Given the description of an element on the screen output the (x, y) to click on. 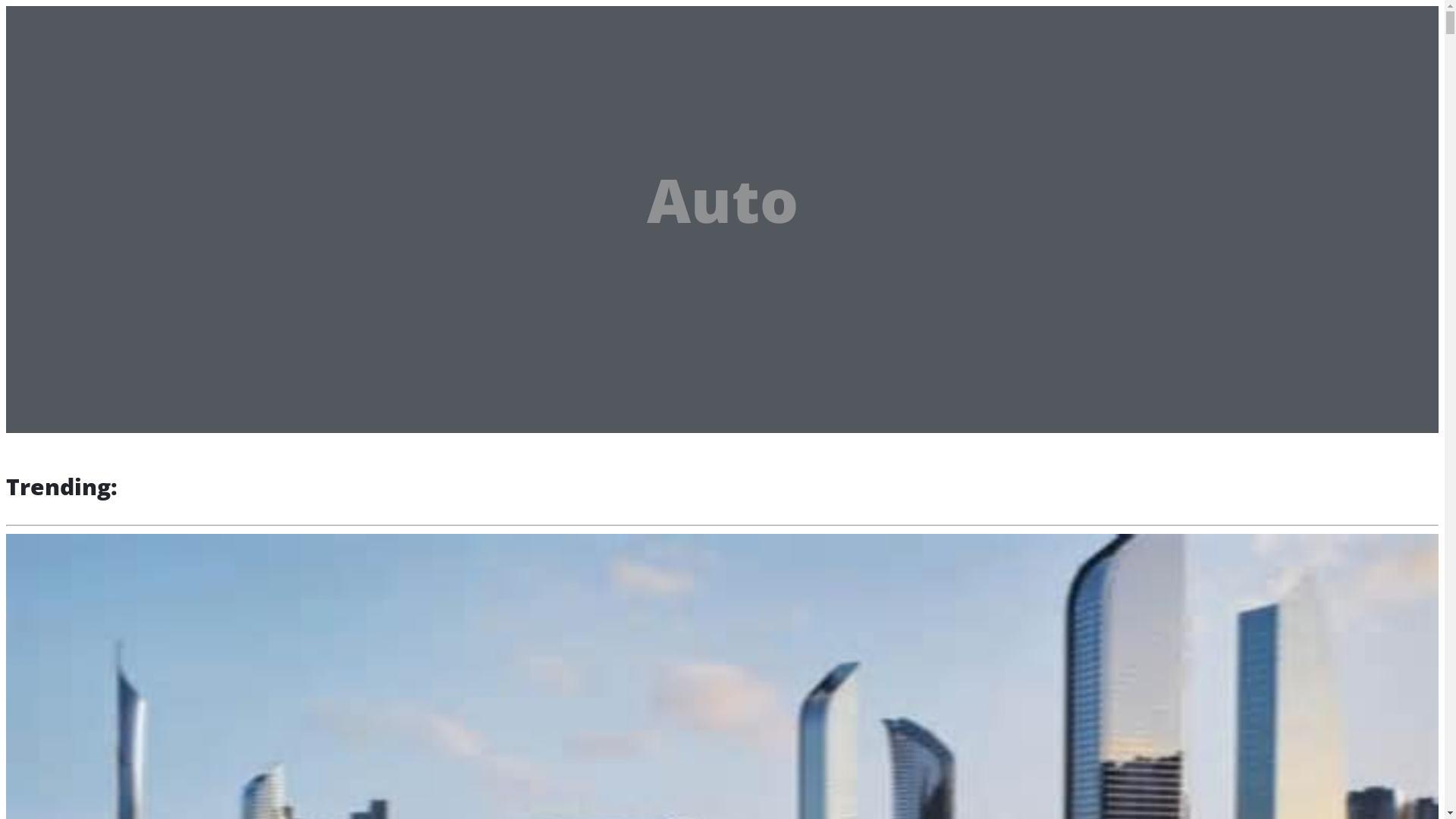
HOME Element type: text (67, 67)
MENU Element type: text (172, 22)
notenlehre.cd Element type: text (75, 19)
SDFDSF32FSD Element type: text (85, 87)
